Given the description of an element on the screen output the (x, y) to click on. 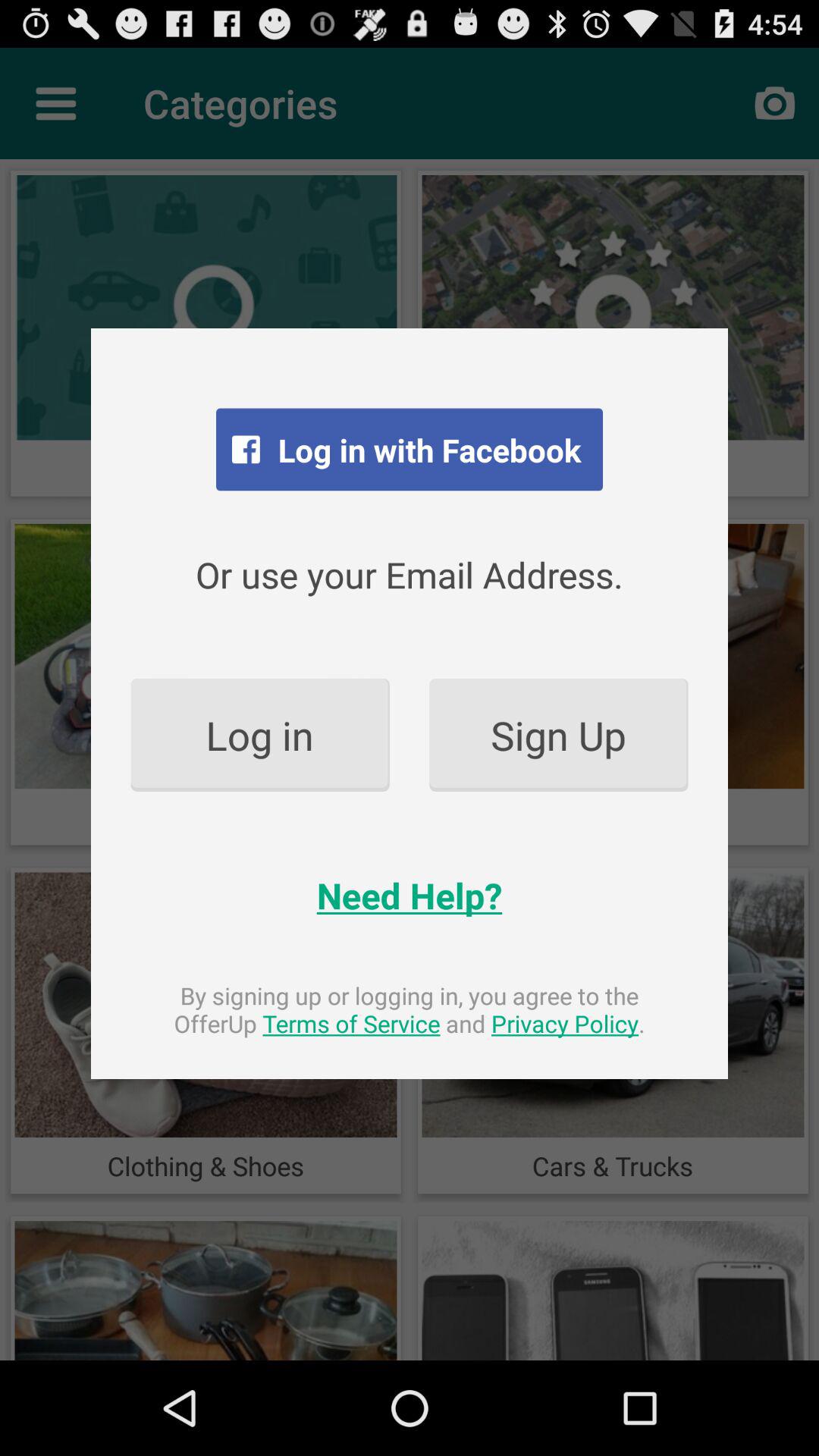
jump to need help? app (409, 895)
